Given the description of an element on the screen output the (x, y) to click on. 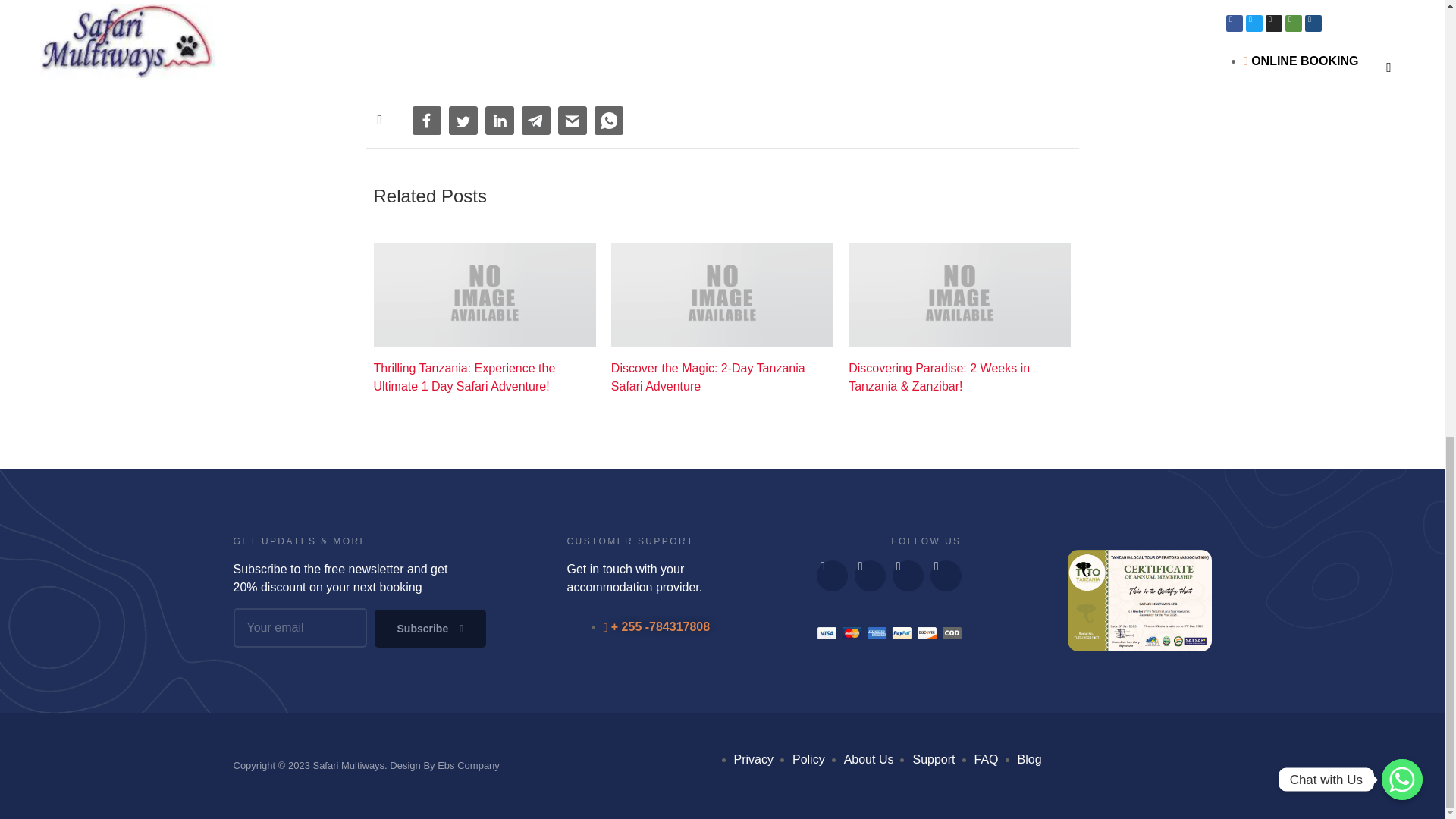
Discover the Magic: 2-Day Tanzania Safari Adventure (721, 377)
Subscribe (430, 628)
